Given the description of an element on the screen output the (x, y) to click on. 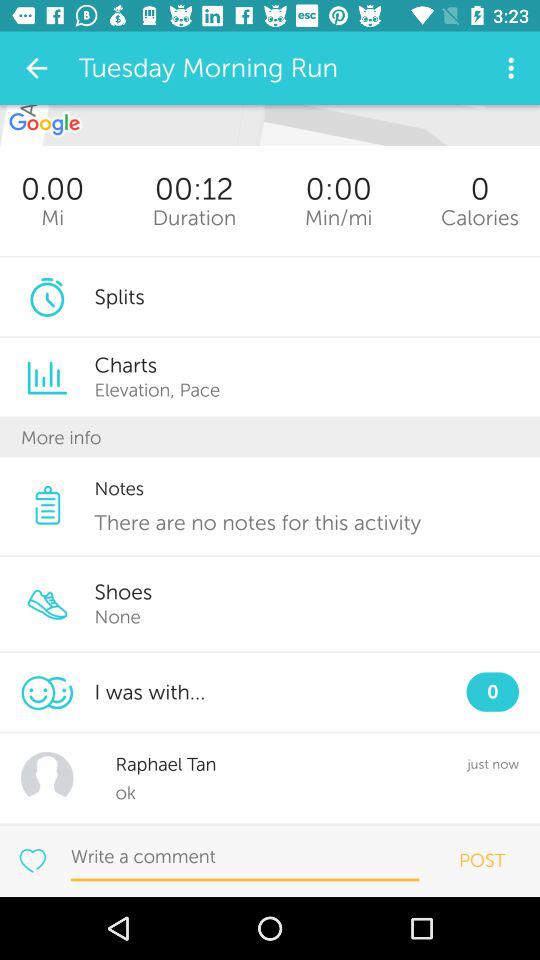
click the icon to the left of 0:00 item (194, 217)
